Given the description of an element on the screen output the (x, y) to click on. 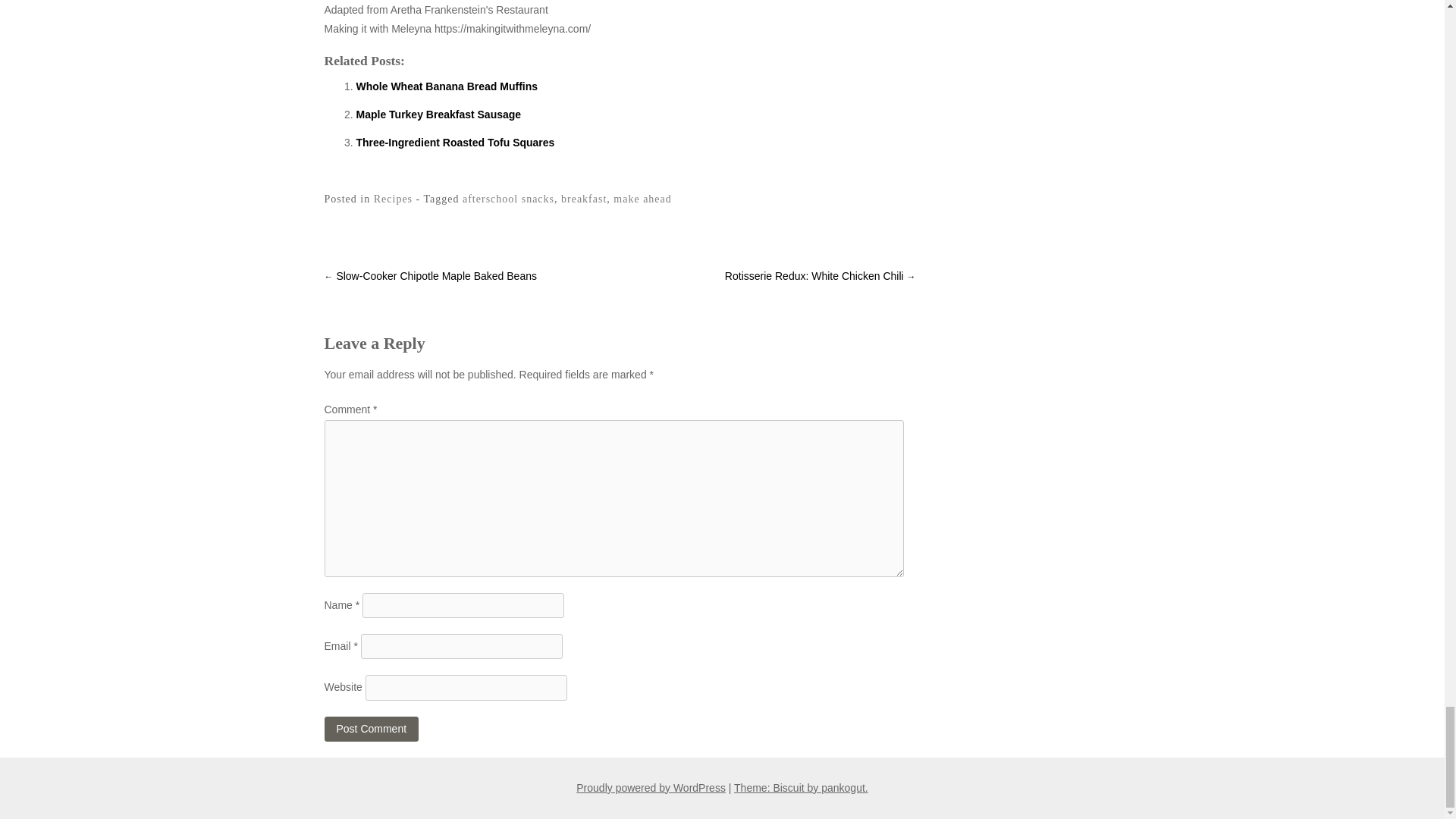
make ahead (641, 198)
Maple Turkey Breakfast Sausage (438, 114)
Post Comment (371, 729)
Whole Wheat Banana Bread Muffins (447, 86)
Three-Ingredient Roasted Tofu Squares (455, 142)
Recipes (393, 198)
Post Comment (371, 729)
Maple Turkey Breakfast Sausage (438, 114)
Whole Wheat Banana Bread Muffins (447, 86)
breakfast (583, 198)
afterschool snacks (508, 198)
Three-Ingredient Roasted Tofu Squares (455, 142)
